Given the description of an element on the screen output the (x, y) to click on. 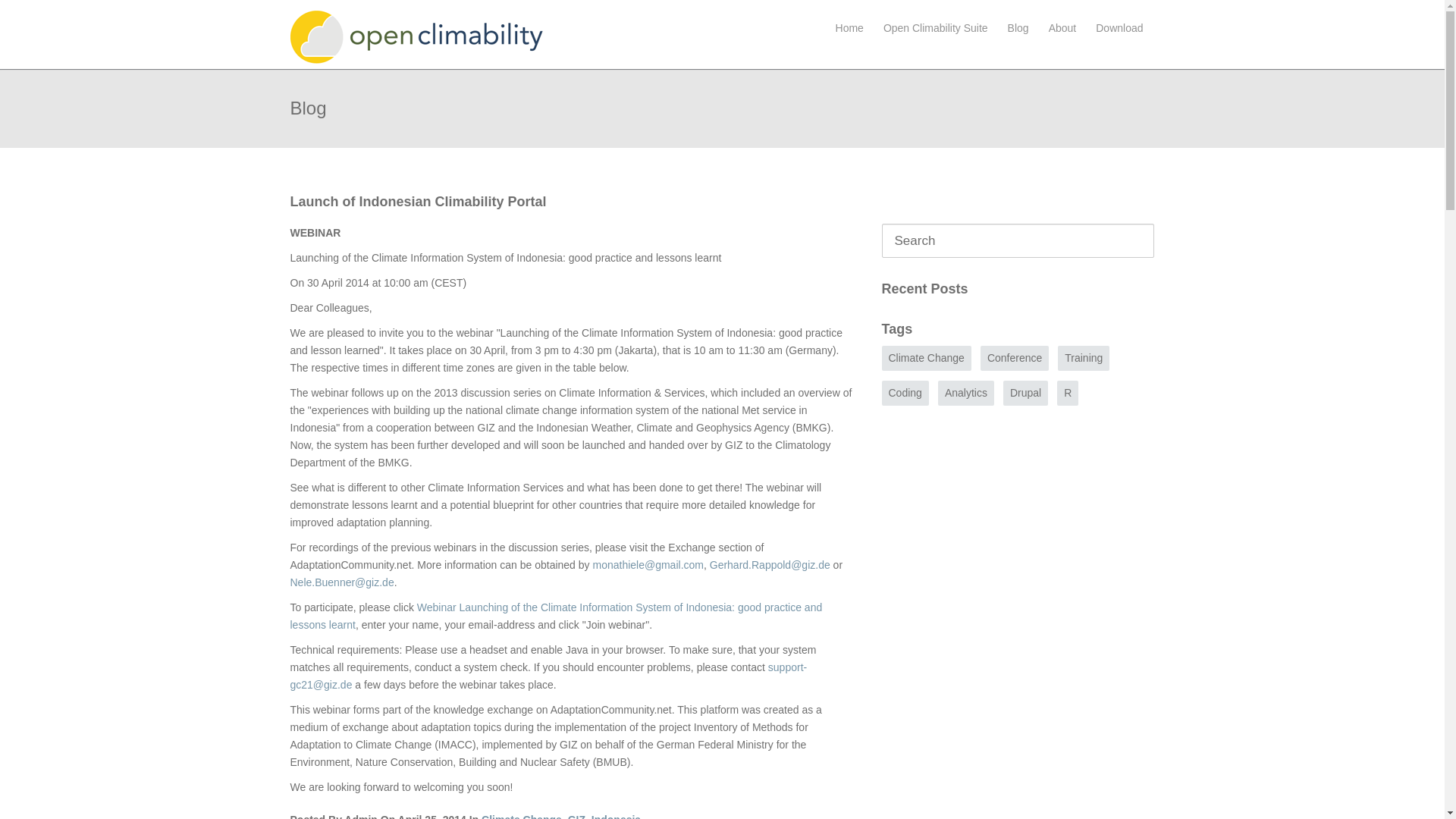
Launch of Indonesian Climability Portal (417, 201)
Download (1119, 28)
Climate Change (521, 816)
Conference (1014, 357)
Indonesia (615, 816)
Blog (1018, 28)
Open Climability Suite (935, 28)
Climate Change (925, 357)
Home (849, 28)
